Given the description of an element on the screen output the (x, y) to click on. 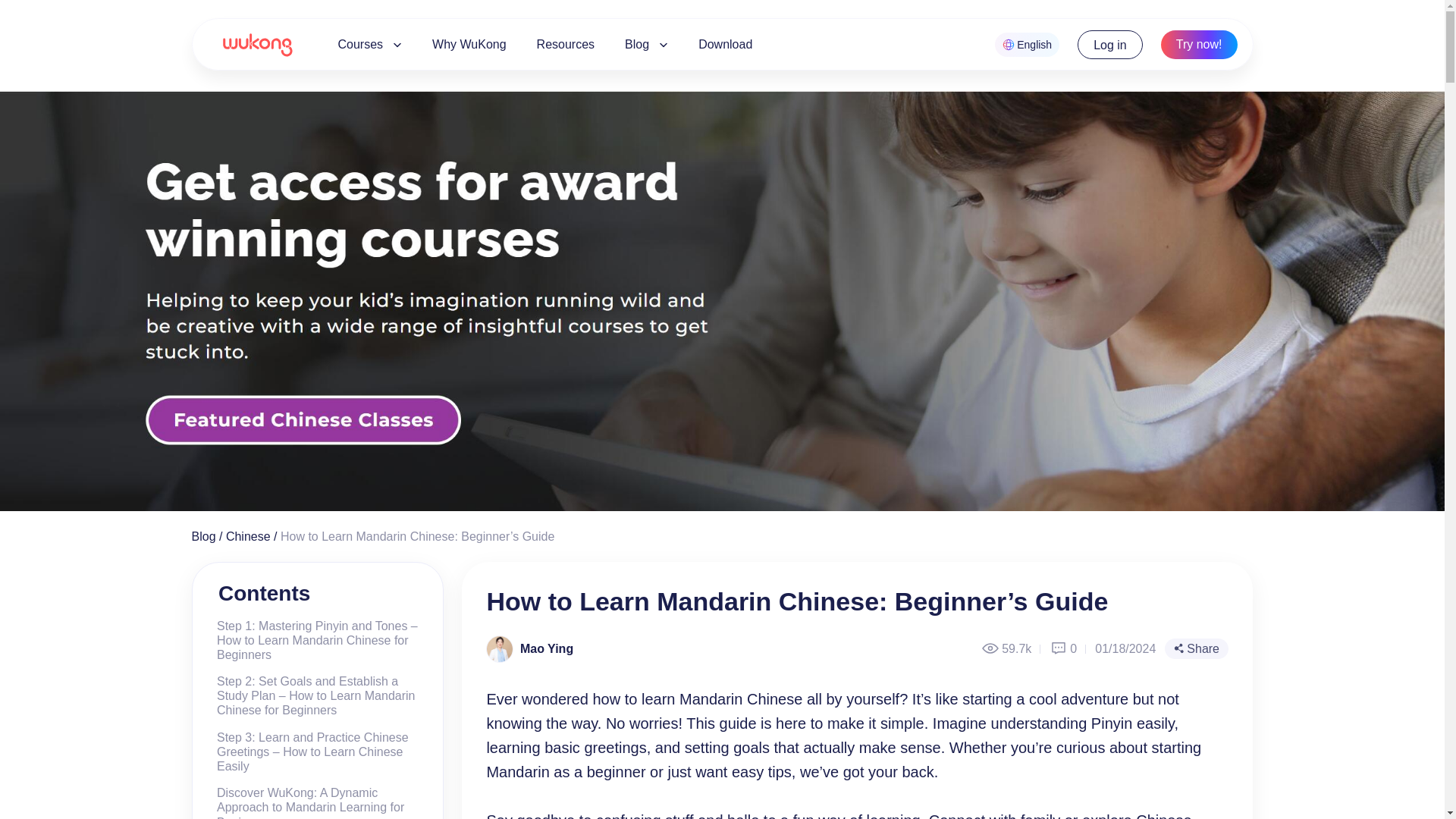
Download (725, 43)
Chinese (247, 535)
Courses (362, 43)
Log in (1109, 44)
Resources (565, 43)
Share (1196, 648)
Blog (202, 535)
Try now! (1198, 44)
